Given the description of an element on the screen output the (x, y) to click on. 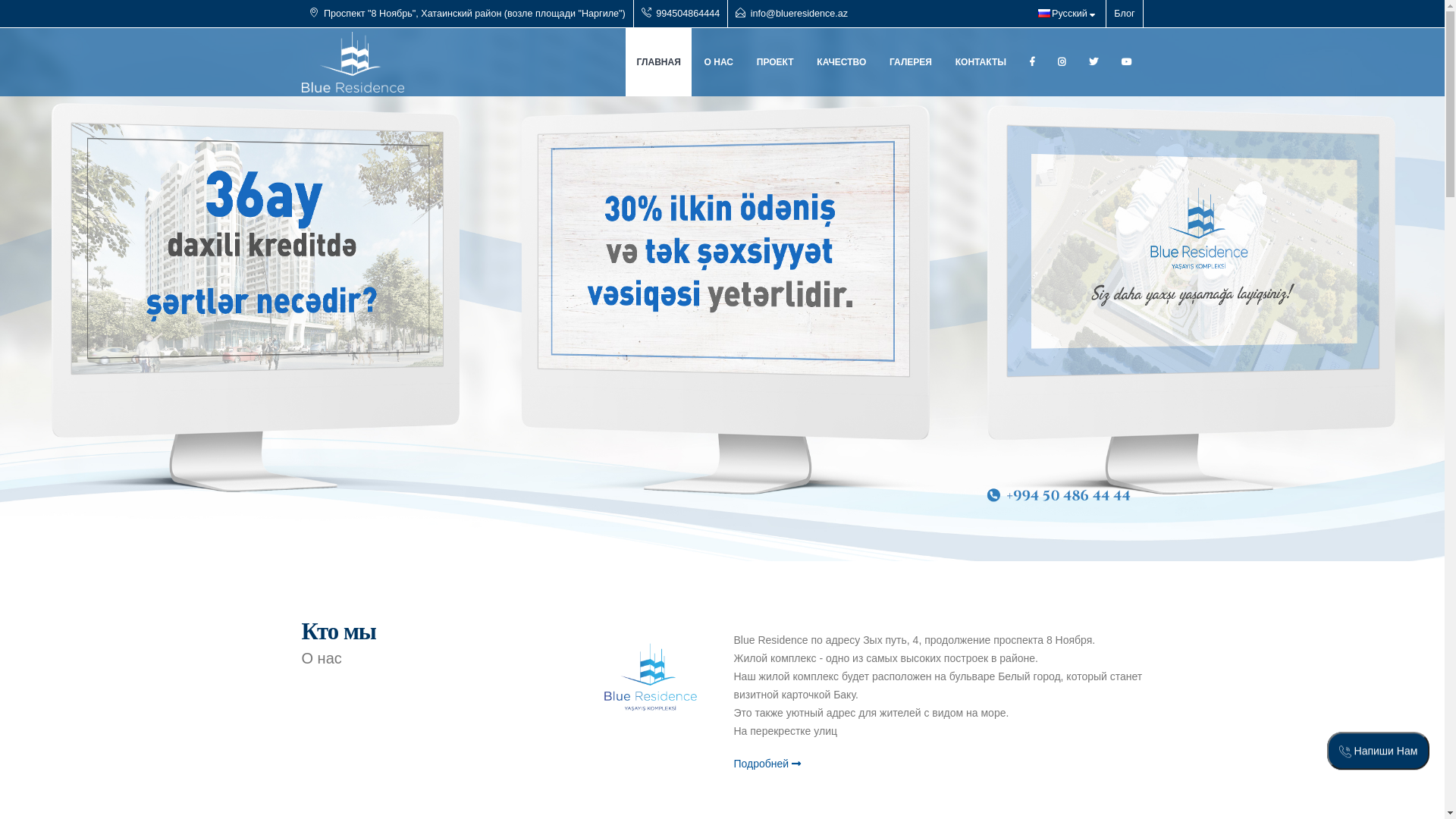
Youtube Element type: hover (1126, 62)
Linkedin Element type: hover (1093, 62)
info@blueresidence.az Element type: text (798, 13)
Facebook Element type: hover (1031, 62)
Instagram Element type: hover (1061, 62)
